Given the description of an element on the screen output the (x, y) to click on. 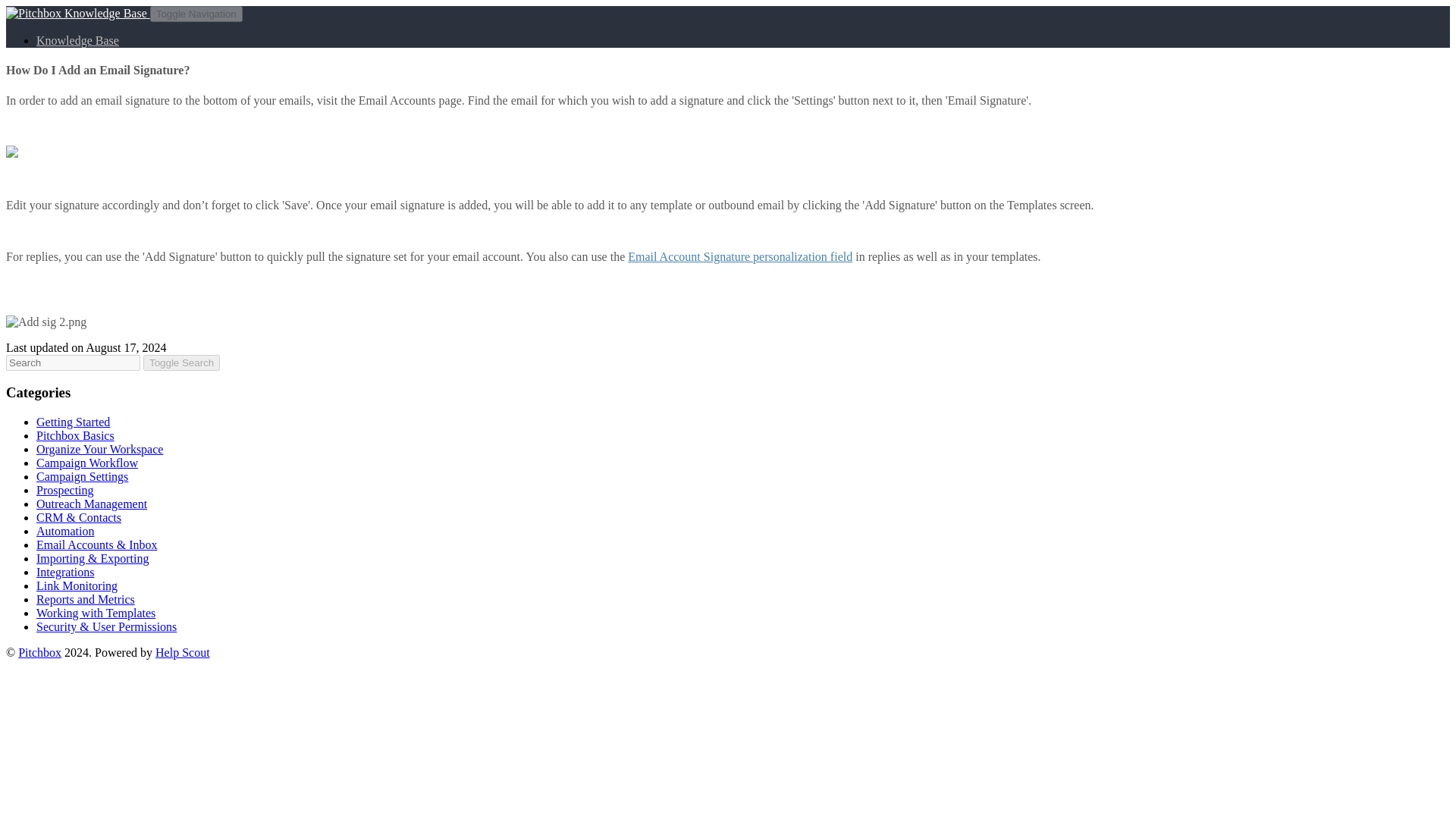
Prospecting (65, 490)
Outreach Management (91, 503)
Pitchbox Basics (75, 435)
Knowledge Base (77, 40)
Automation (65, 530)
Integrations (65, 571)
Getting Started (73, 421)
Organize Your Workspace (99, 449)
Campaign Workflow (87, 462)
Email Account Signature personalization field (739, 256)
